Given the description of an element on the screen output the (x, y) to click on. 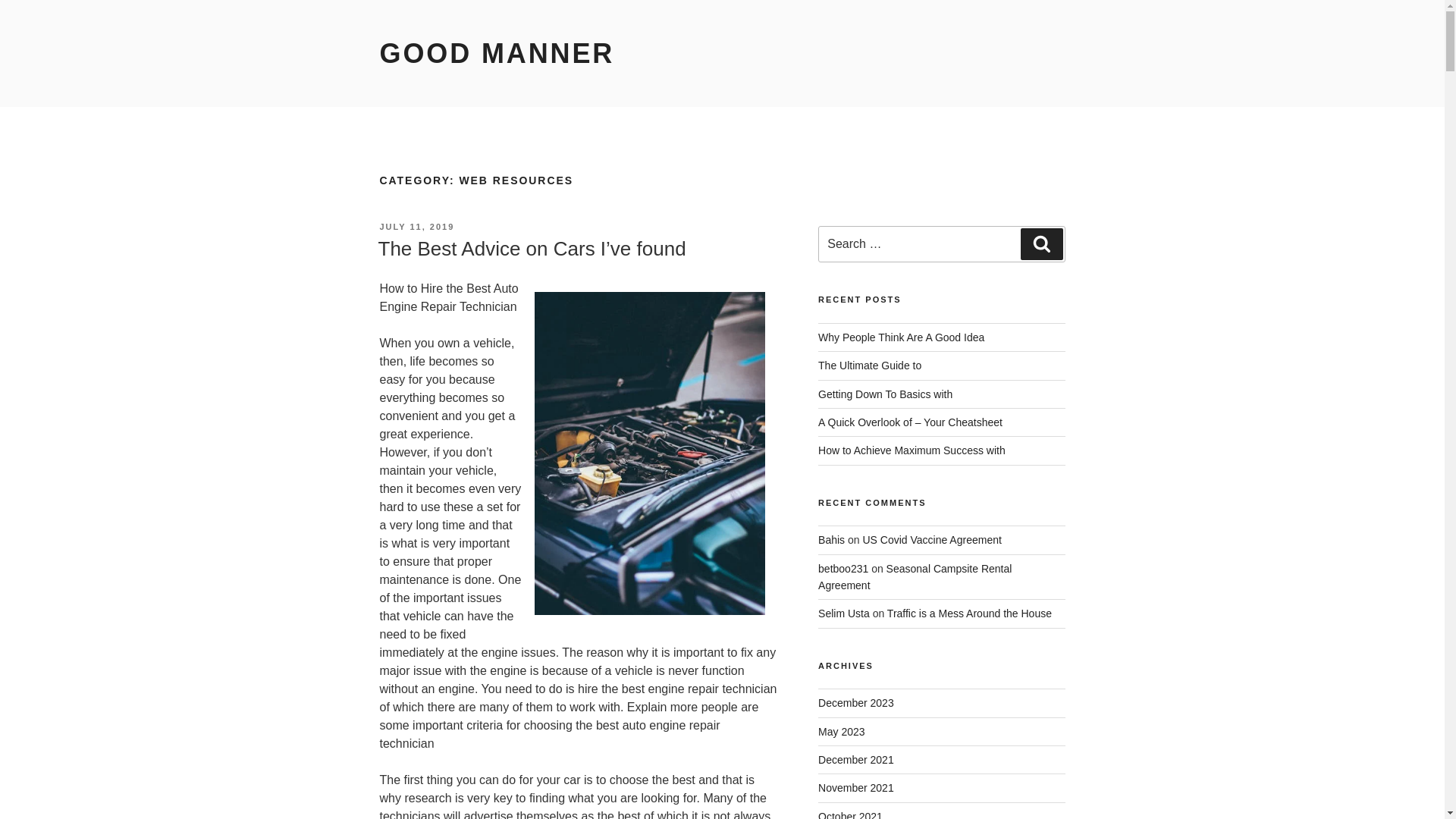
GOOD MANNER (496, 52)
JULY 11, 2019 (416, 225)
